Given the description of an element on the screen output the (x, y) to click on. 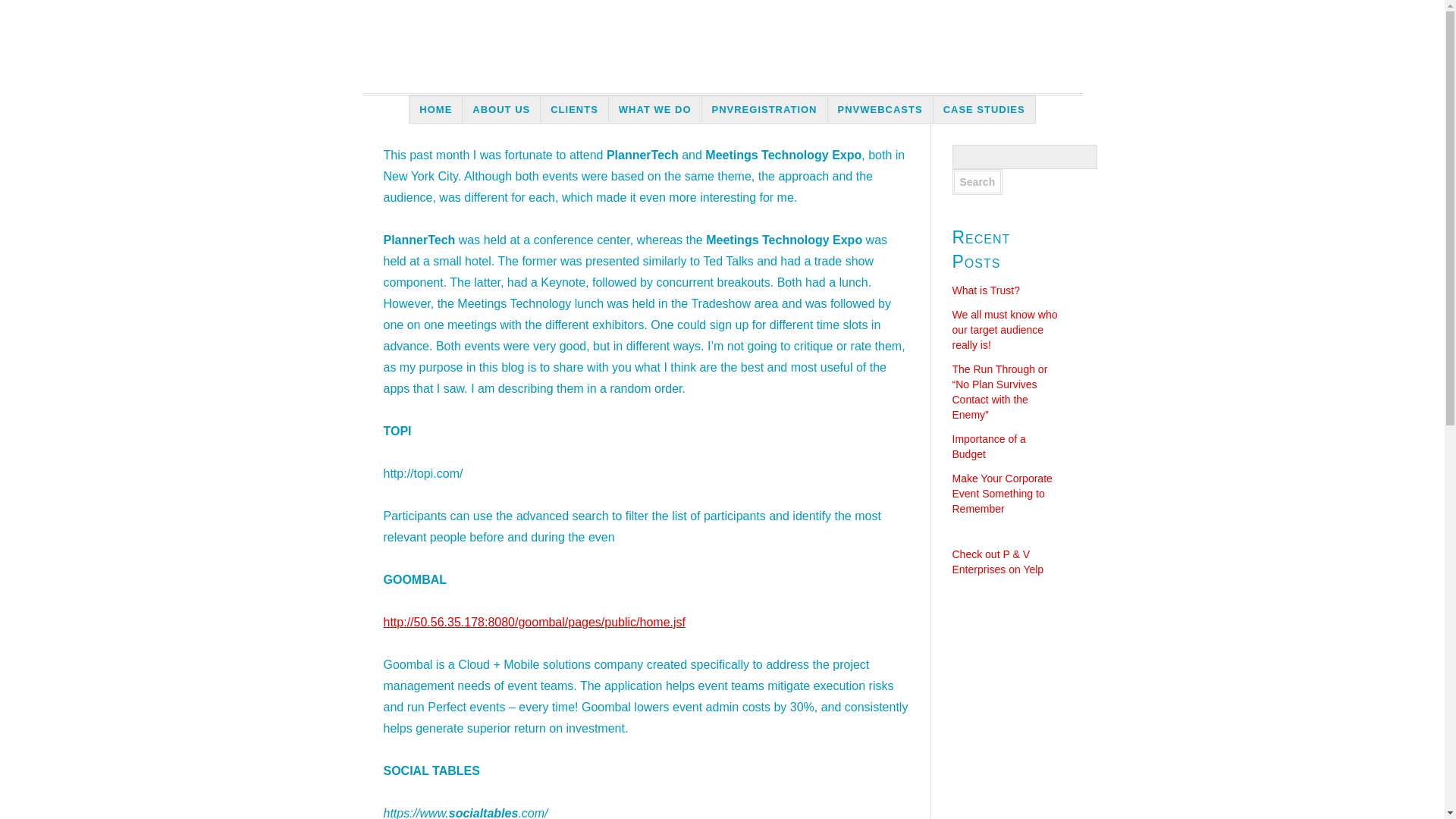
WHAT WE DO (654, 109)
ABOUT US (501, 109)
PNVREGISTRATION (764, 109)
CLIENTS (574, 109)
PNVWEBCASTS (880, 109)
Search (977, 181)
CASE STUDIES (984, 109)
HOME (436, 109)
